Given the description of an element on the screen output the (x, y) to click on. 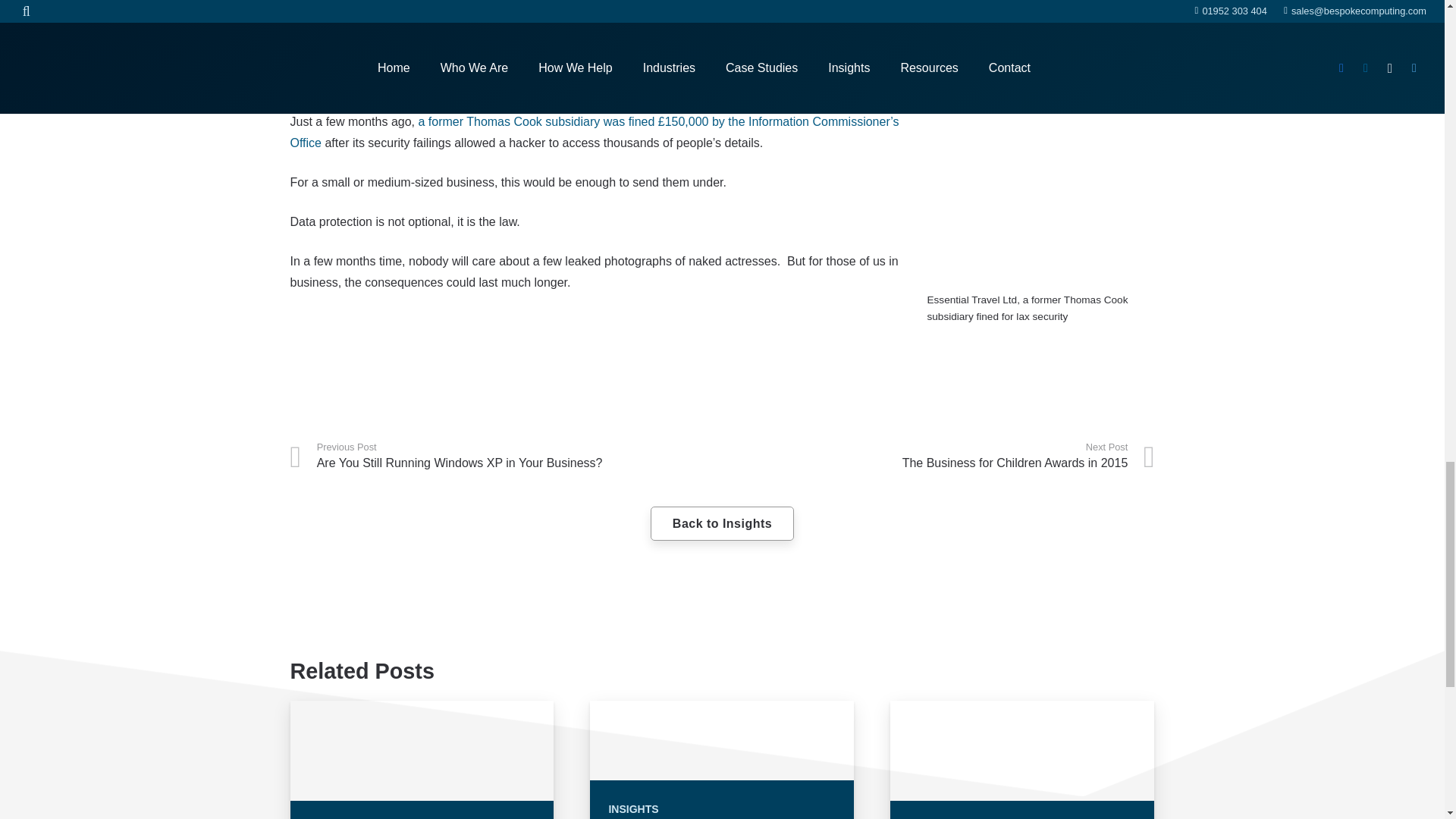
Are You Still Running Windows XP in Your Business? (505, 455)
The Business for Children Awards in 2015 (938, 455)
7 things for better technology security (550, 21)
